Given the description of an element on the screen output the (x, y) to click on. 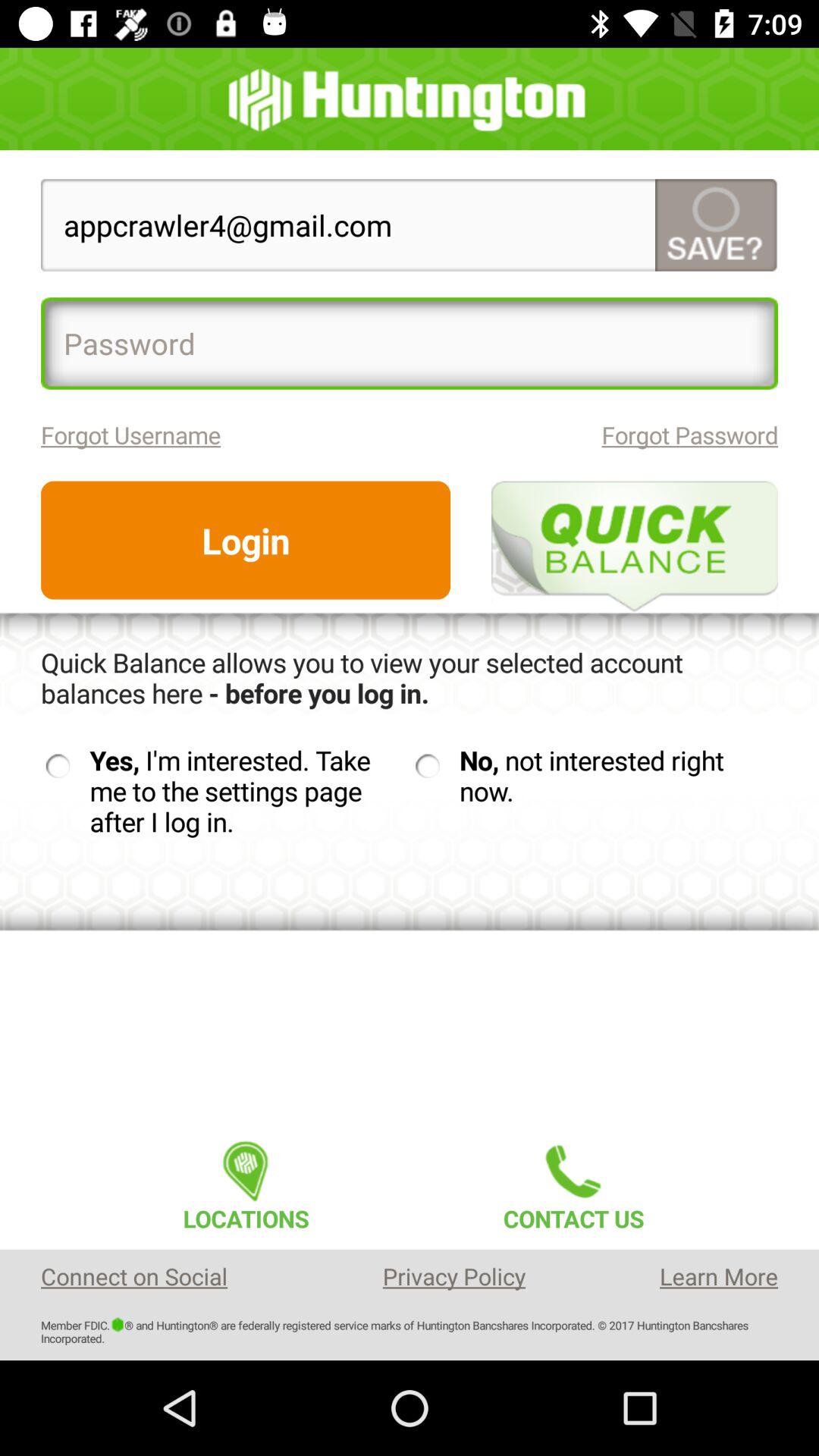
turn on the item below the forgot username item (245, 540)
